Given the description of an element on the screen output the (x, y) to click on. 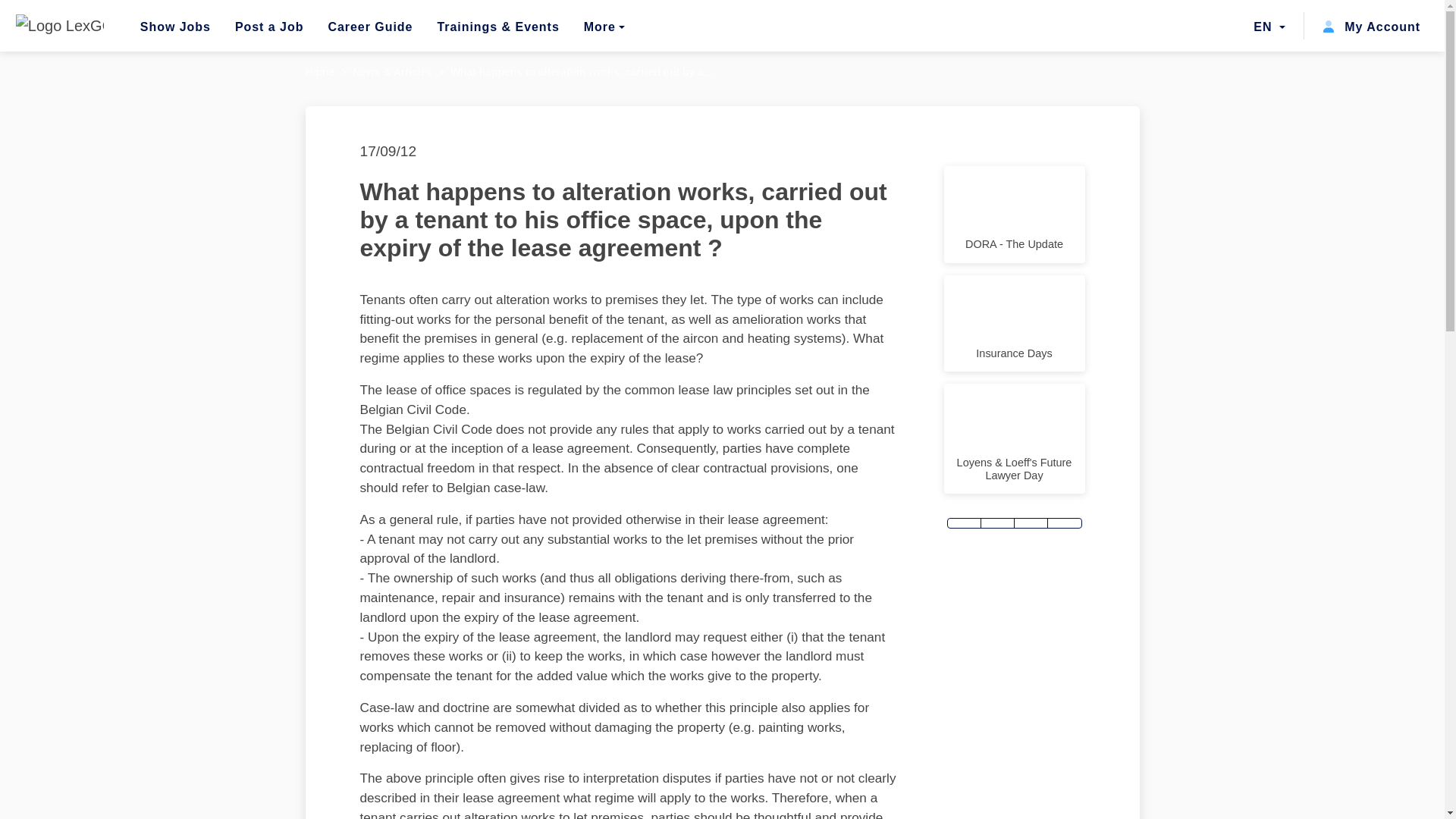
Post a Job (269, 25)
Insurance Days (1013, 323)
More (603, 25)
Home (319, 71)
Career Guide (369, 25)
EN (1269, 25)
Show Jobs (175, 25)
DORA - The Update (1013, 214)
